Given the description of an element on the screen output the (x, y) to click on. 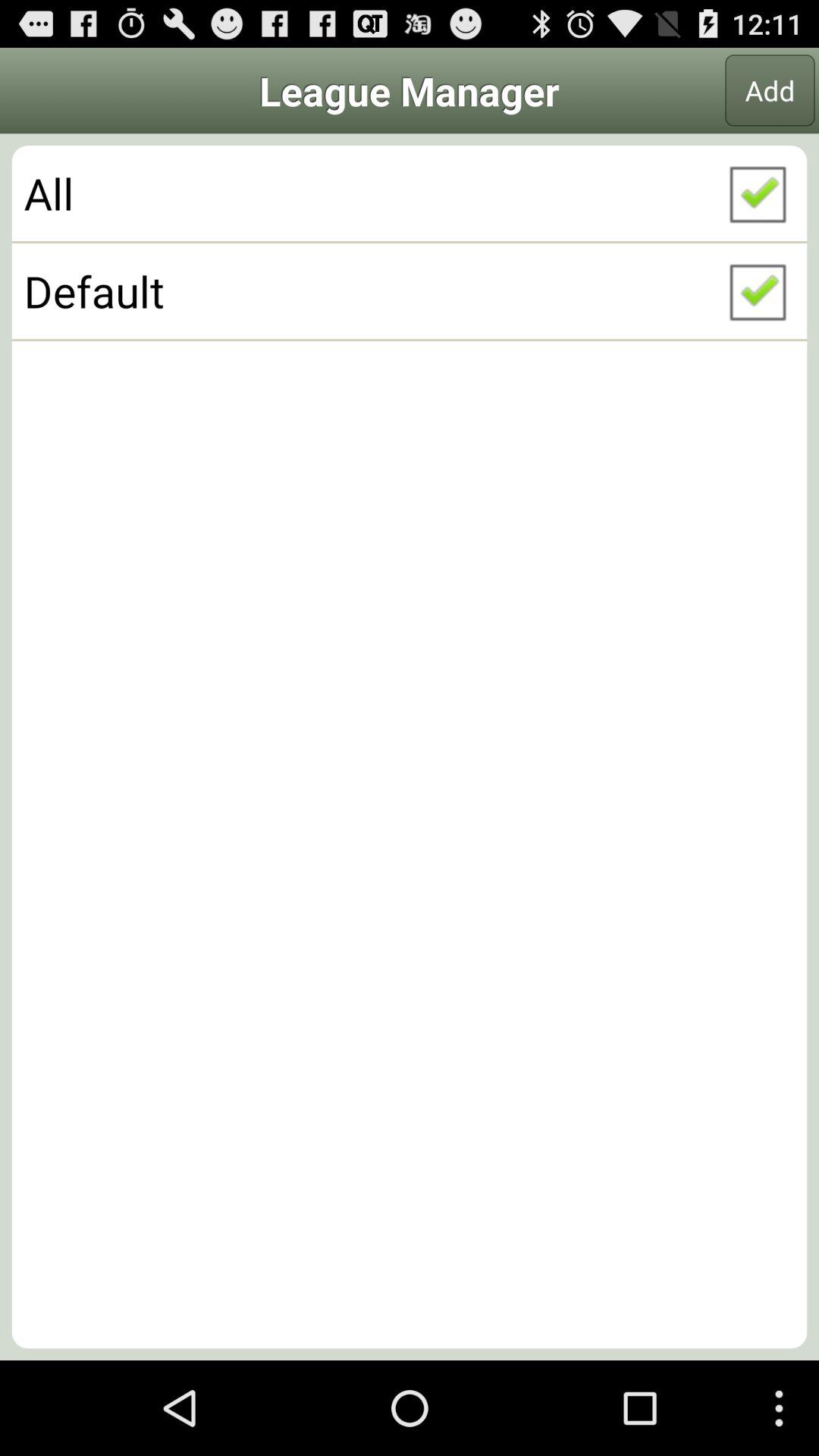
flip until default (409, 290)
